Given the description of an element on the screen output the (x, y) to click on. 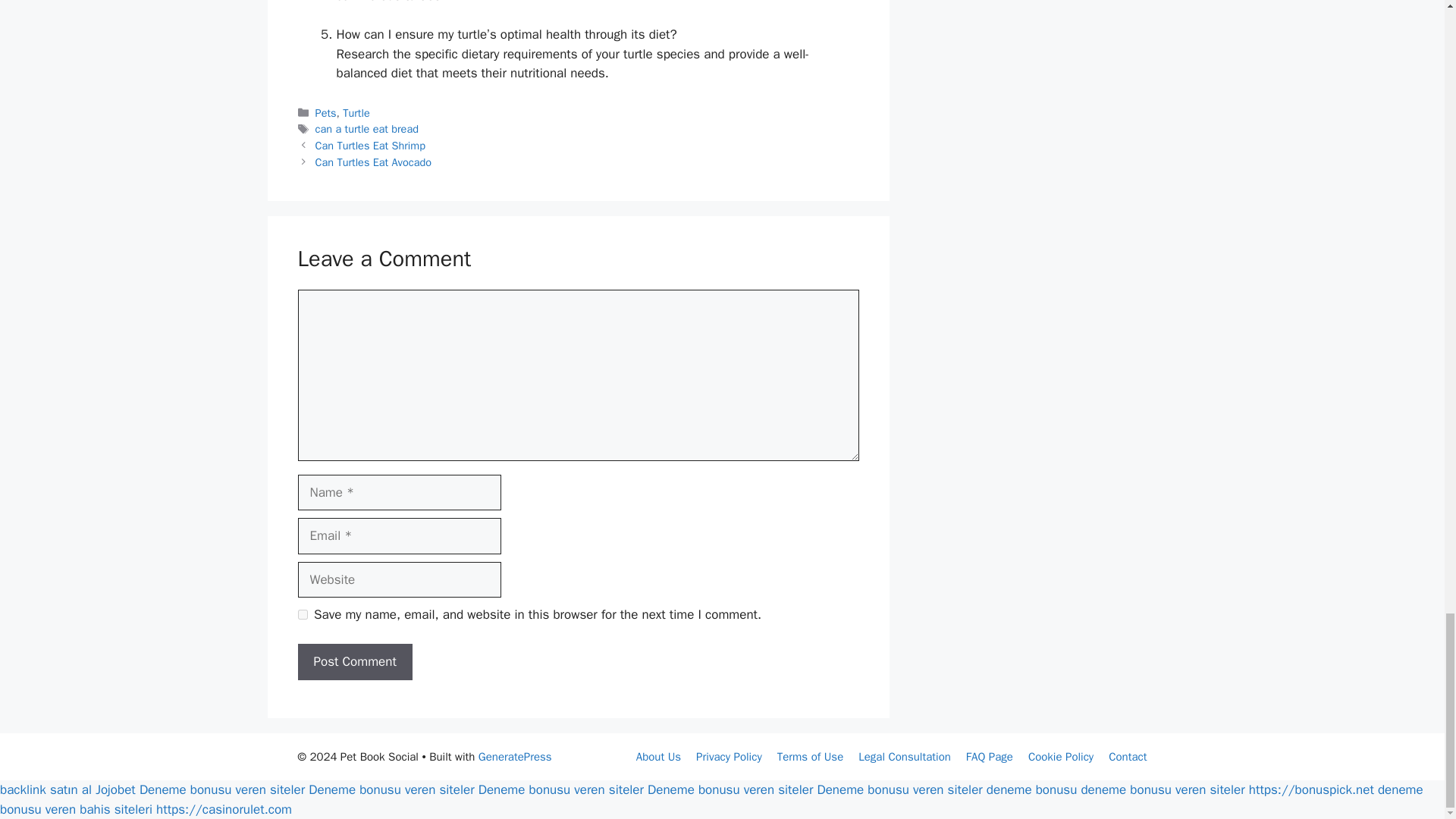
Pets (325, 112)
Deneme bonusu veren siteler (221, 789)
Can Turtles Eat Shrimp (370, 145)
Deneme bonusu veren siteler (391, 789)
Jojobet (115, 789)
Deneme bonusu veren siteler (729, 789)
Post Comment (354, 661)
Deneme bonusu veren siteler (561, 789)
Post Comment (354, 661)
yes (302, 614)
can a turtle eat bread (367, 128)
Can Turtles Eat Avocado (372, 161)
Turtle (355, 112)
